Given the description of an element on the screen output the (x, y) to click on. 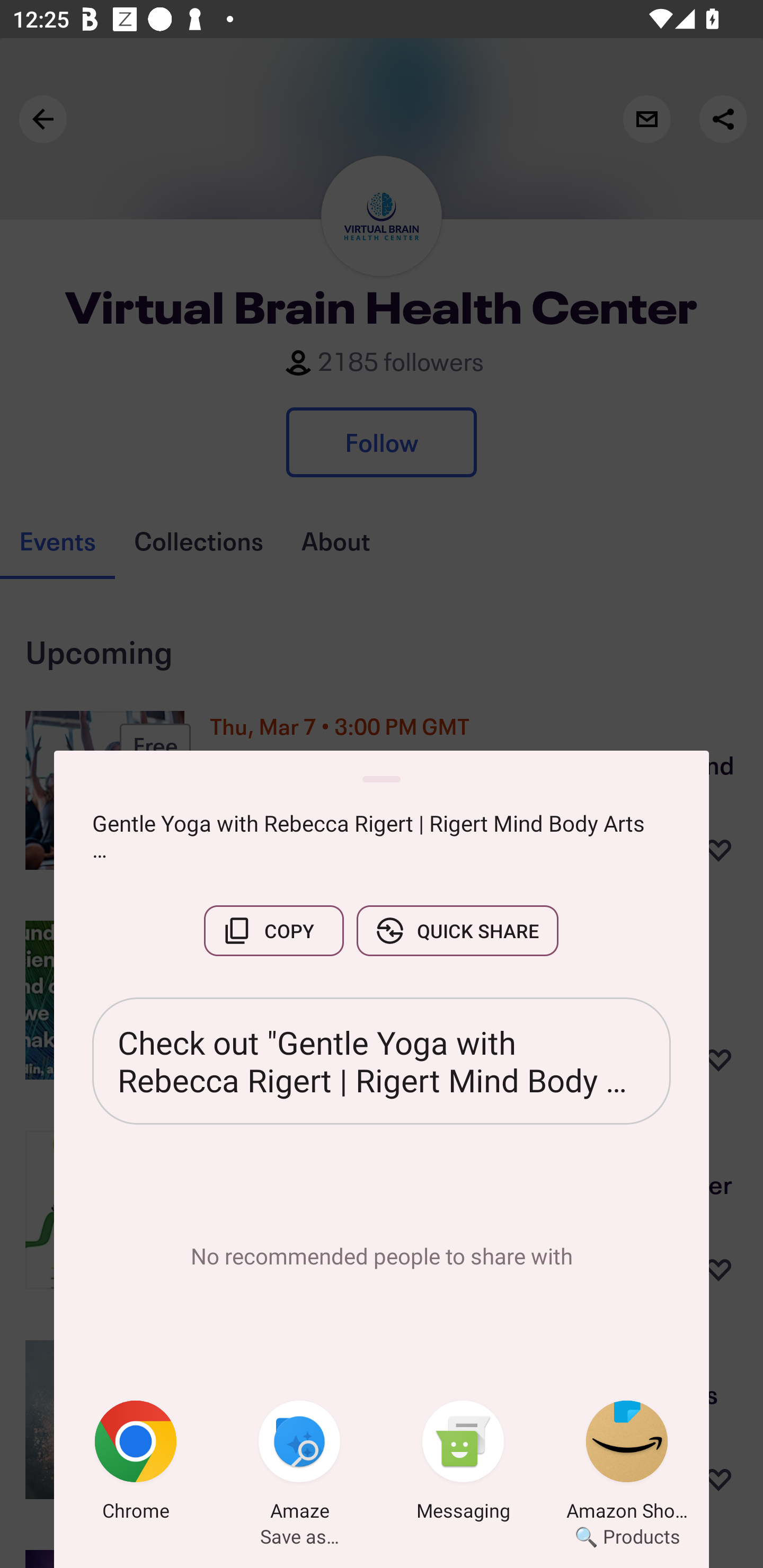
COPY (273, 930)
QUICK SHARE (457, 930)
Chrome (135, 1463)
Amaze Save as… (299, 1463)
Messaging (463, 1463)
Amazon Shopping 🔍 Products (626, 1463)
